Given the description of an element on the screen output the (x, y) to click on. 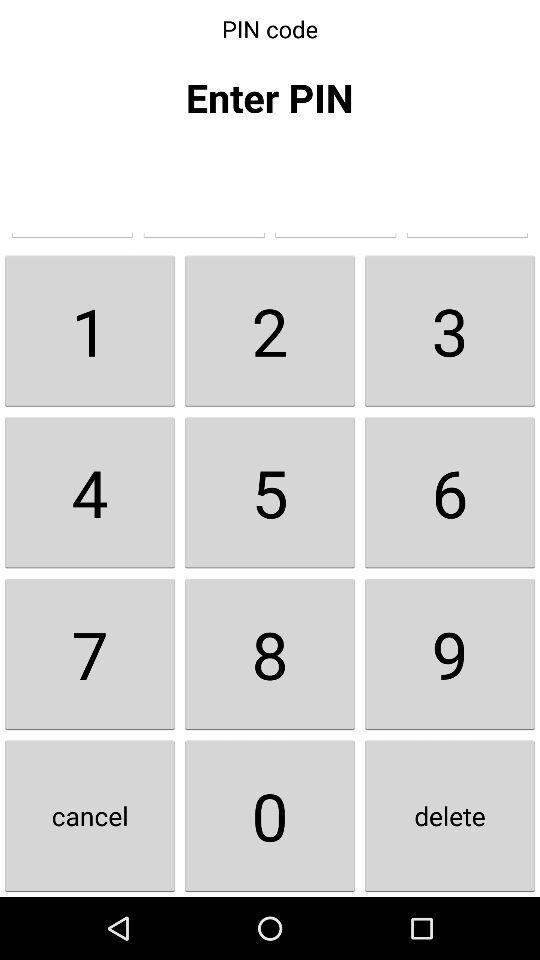
click the 3 item (450, 330)
